Given the description of an element on the screen output the (x, y) to click on. 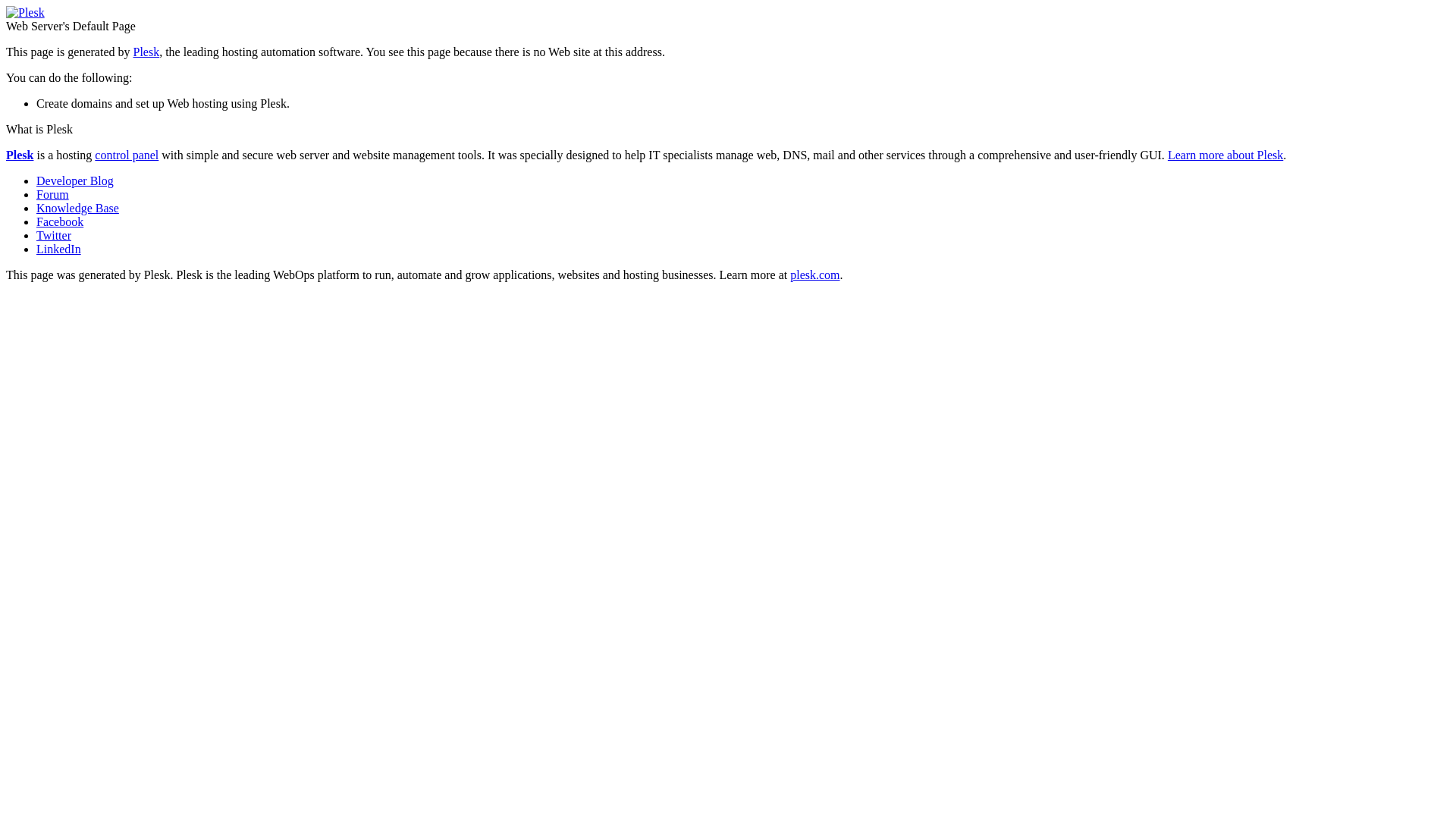
LinkedIn Element type: text (58, 248)
Plesk Element type: text (19, 154)
Forum Element type: text (52, 194)
plesk.com Element type: text (814, 274)
Facebook Element type: text (59, 221)
Plesk Element type: text (146, 51)
Learn more about Plesk Element type: text (1225, 154)
control panel Element type: text (126, 154)
Knowledge Base Element type: text (77, 207)
Developer Blog Element type: text (74, 180)
Twitter Element type: text (53, 235)
